Given the description of an element on the screen output the (x, y) to click on. 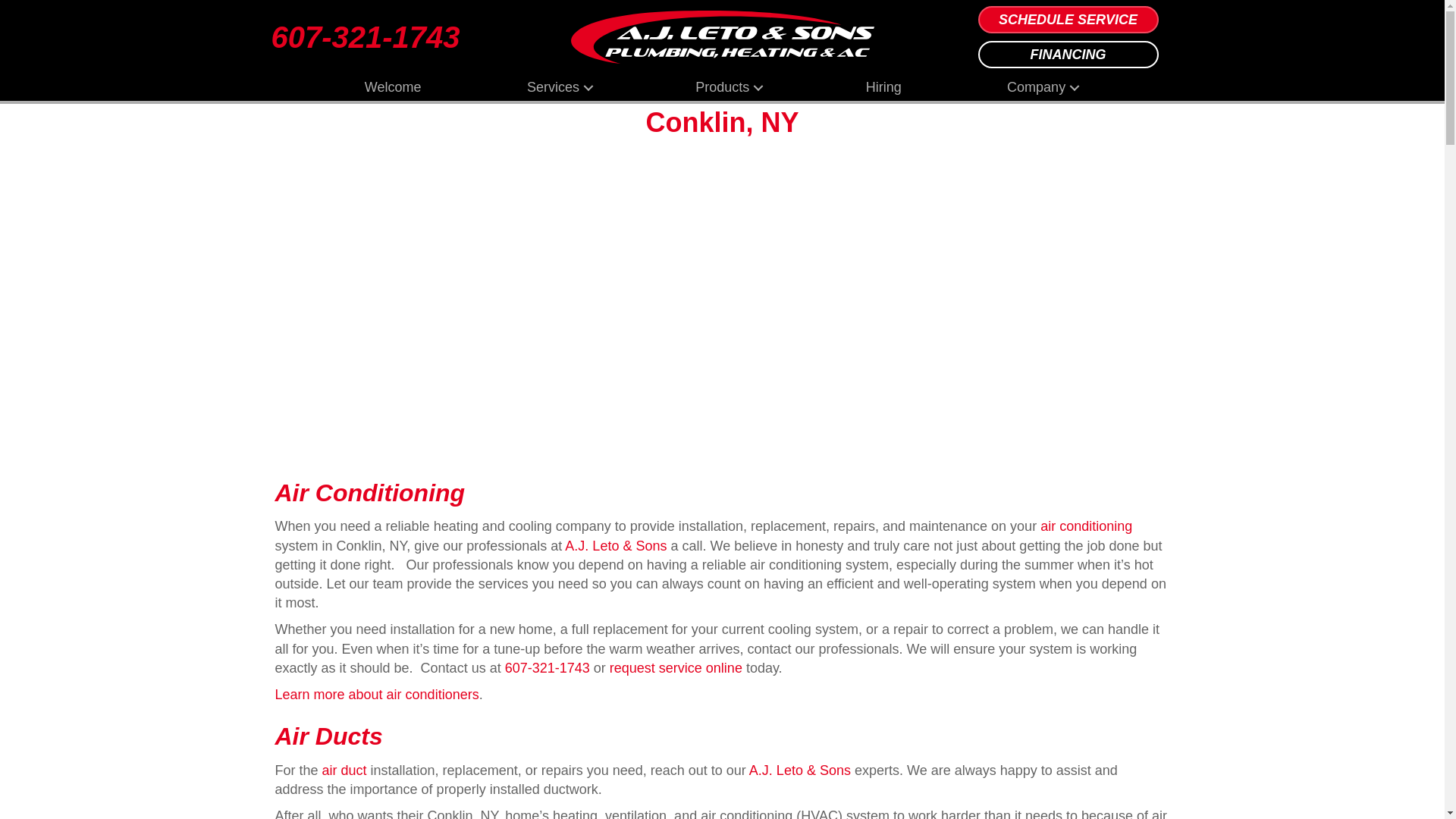
FINANCING (1068, 53)
SCHEDULE SERVICE (1068, 19)
ajl-logo (721, 36)
Services (557, 87)
607-321-1743 (365, 37)
Welcome (392, 87)
